Given the description of an element on the screen output the (x, y) to click on. 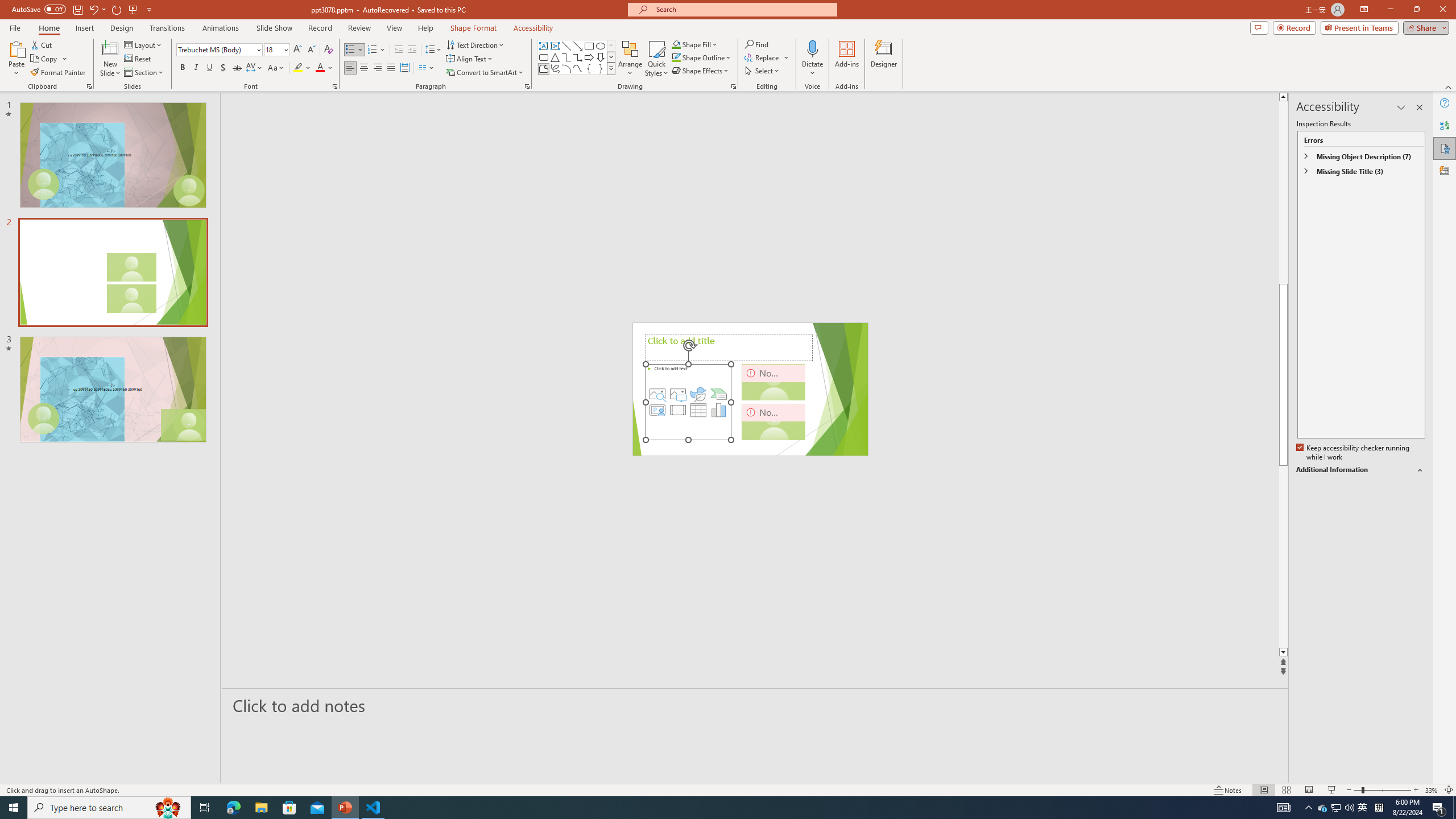
Camera 3, No camera detected. (773, 421)
